Given the description of an element on the screen output the (x, y) to click on. 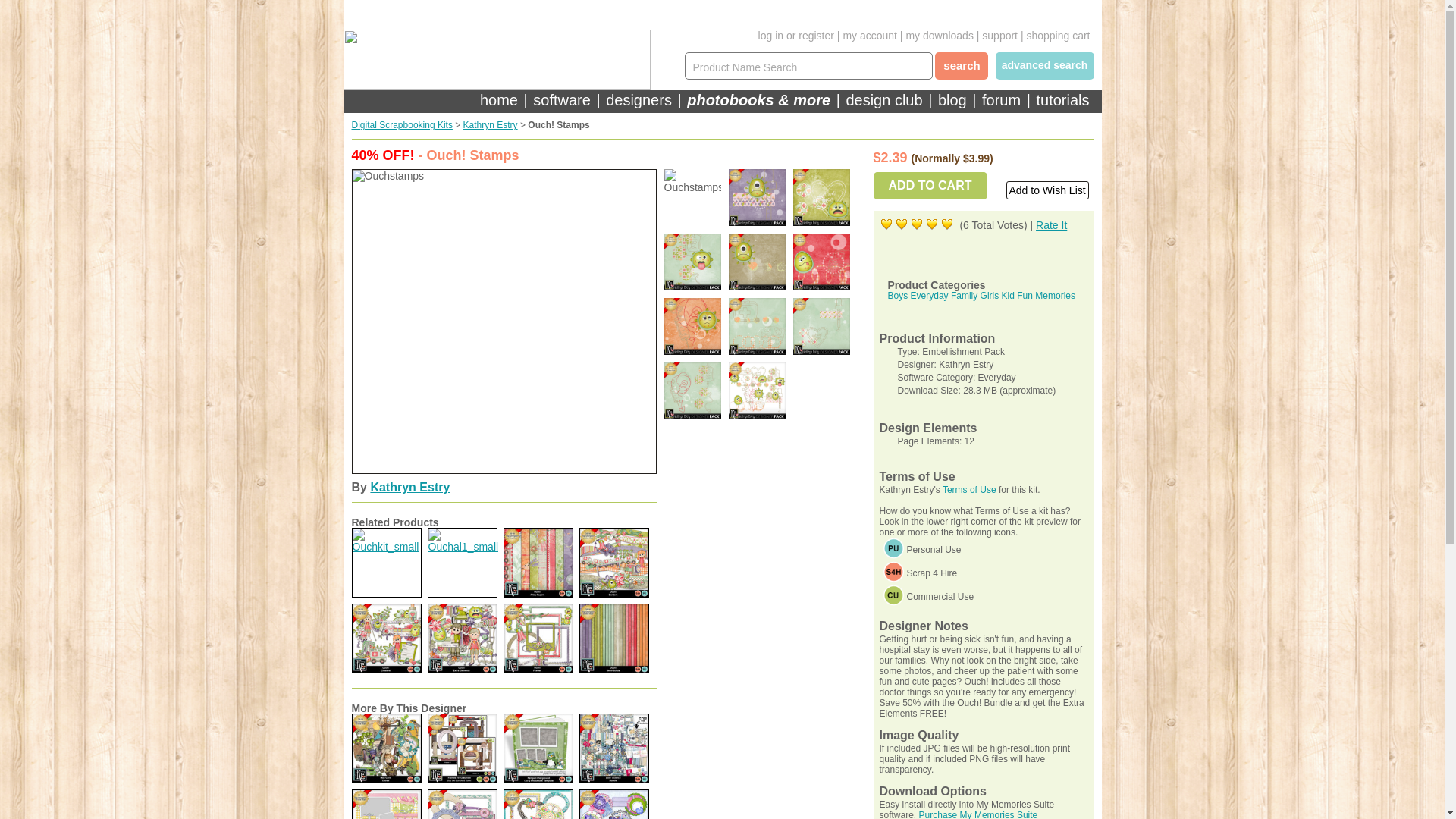
search (961, 65)
search (961, 65)
Digital Scrapbooking Kits (402, 124)
advanced search (1047, 65)
my downloads (939, 35)
home (501, 99)
Kathryn Estry (490, 124)
Product Name Search (805, 67)
forum (1000, 99)
Rate It (1051, 224)
my account (869, 35)
ADD TO CART (930, 185)
Kathryn Estry (409, 486)
Add to Wish List (1046, 189)
